Given the description of an element on the screen output the (x, y) to click on. 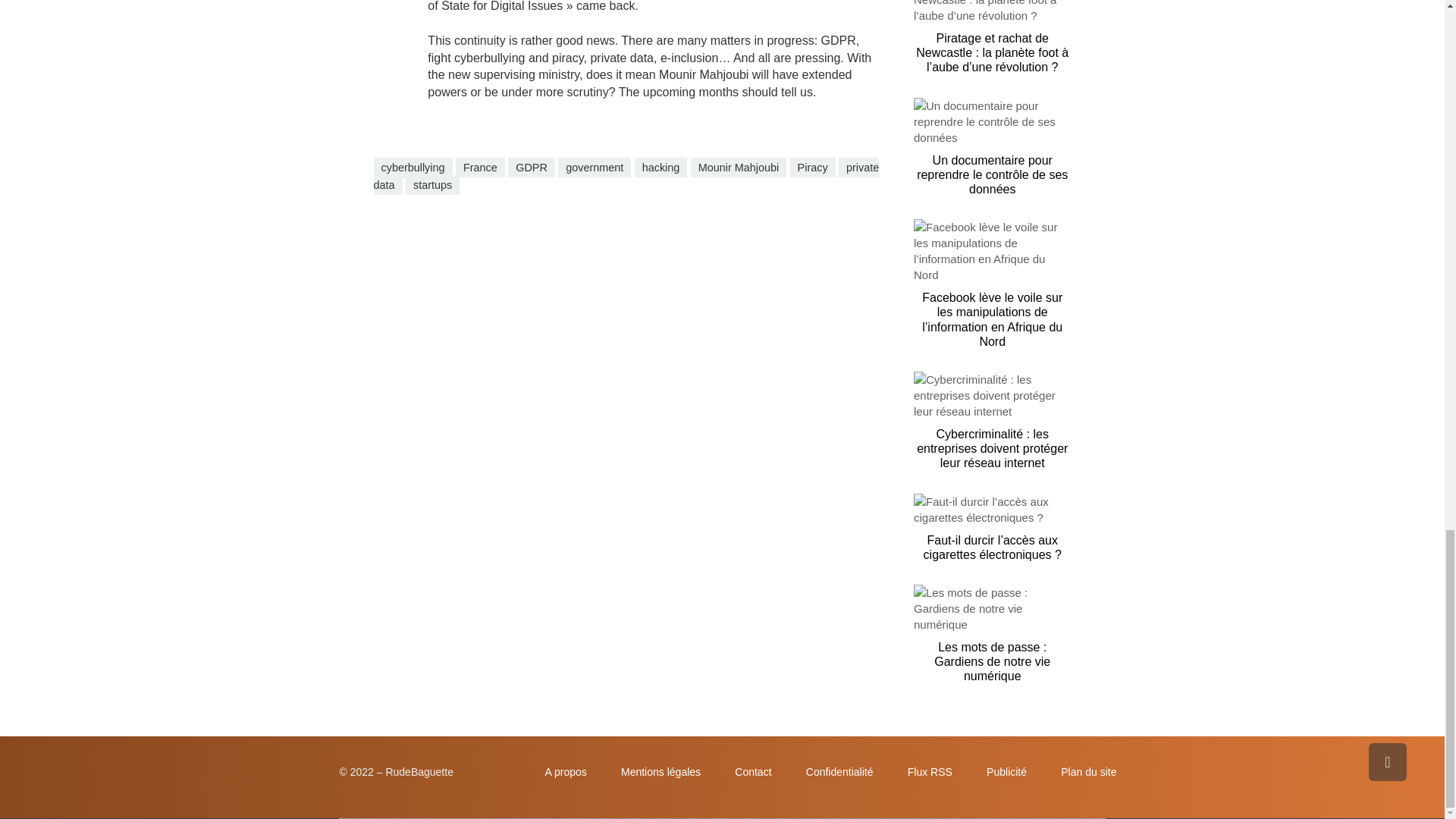
cyberbullying (411, 167)
private data (625, 176)
government (593, 167)
startups (433, 184)
Piracy (812, 167)
France (480, 167)
hacking (660, 167)
Mounir Mahjoubi (738, 167)
GDPR (531, 167)
